Given the description of an element on the screen output the (x, y) to click on. 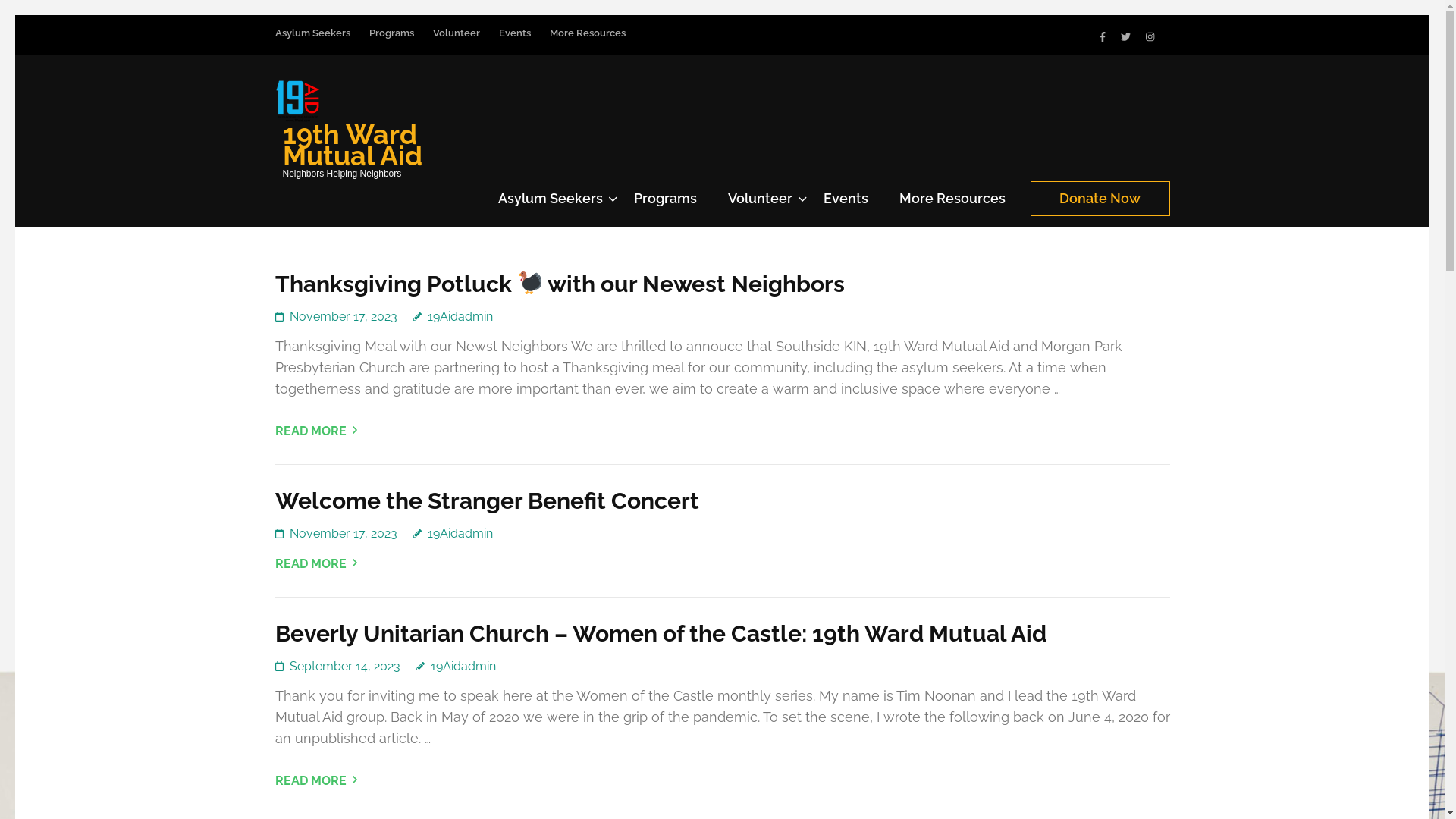
READ MORE Element type: text (315, 430)
Volunteer Element type: text (760, 204)
19Aidadmin Element type: text (452, 316)
READ MORE Element type: text (315, 563)
Facebook Element type: hover (1102, 36)
Programs Element type: text (664, 204)
Asylum Seekers Element type: text (549, 204)
September 14, 2023 Element type: text (344, 665)
Asylum Seekers Element type: text (311, 40)
Volunteer Element type: text (455, 40)
November 17, 2023 Element type: text (343, 316)
Donate Now Element type: text (1099, 197)
19Aidadmin Element type: text (455, 665)
Skip to content (Press Enter) Element type: text (14, 14)
Thanksgiving Potluck with our Newest Neighbors Element type: text (559, 282)
19Aidadmin Element type: text (452, 533)
Events Element type: text (845, 204)
More Resources Element type: text (952, 204)
19th Ward Mutual Aid Element type: text (351, 144)
READ MORE Element type: text (315, 780)
Events Element type: text (514, 40)
Twitter Element type: hover (1125, 36)
Instagram Element type: hover (1149, 36)
Welcome the Stranger Benefit Concert Element type: text (486, 499)
November 17, 2023 Element type: text (343, 533)
More Resources Element type: text (586, 40)
Programs Element type: text (390, 40)
